Given the description of an element on the screen output the (x, y) to click on. 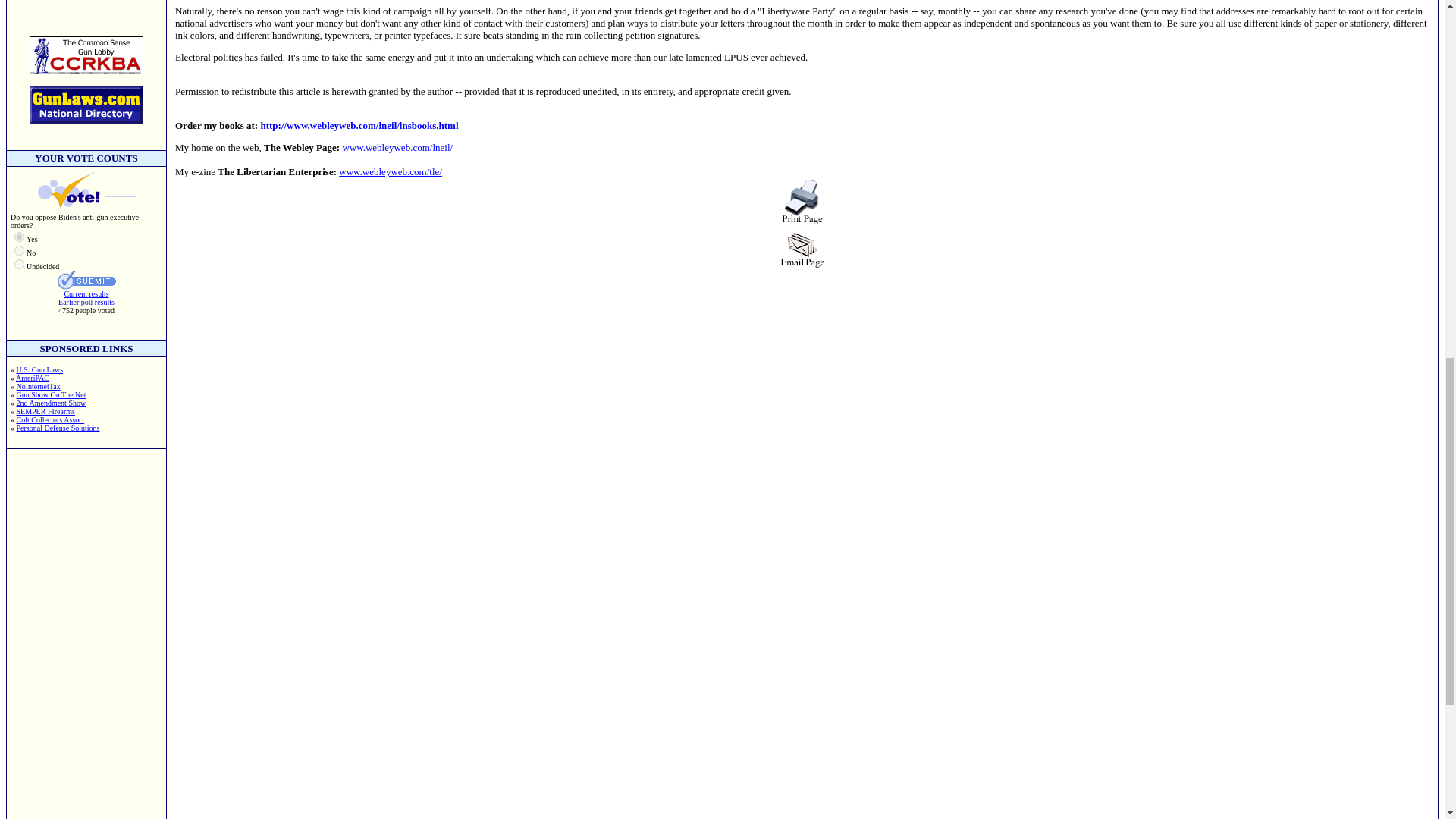
Gun Show On The Net (50, 394)
AmeriPAC (32, 377)
Earlier poll results (86, 302)
U.S. Gun Laws (40, 369)
Vote Now! (86, 280)
Current results (85, 293)
NoInternetTax (38, 386)
SEMPER FIrearms (45, 411)
Colt Collectors Assoc. (50, 419)
2nd Amendment Show (50, 402)
2 (19, 250)
3 (19, 264)
1 (19, 236)
